Given the description of an element on the screen output the (x, y) to click on. 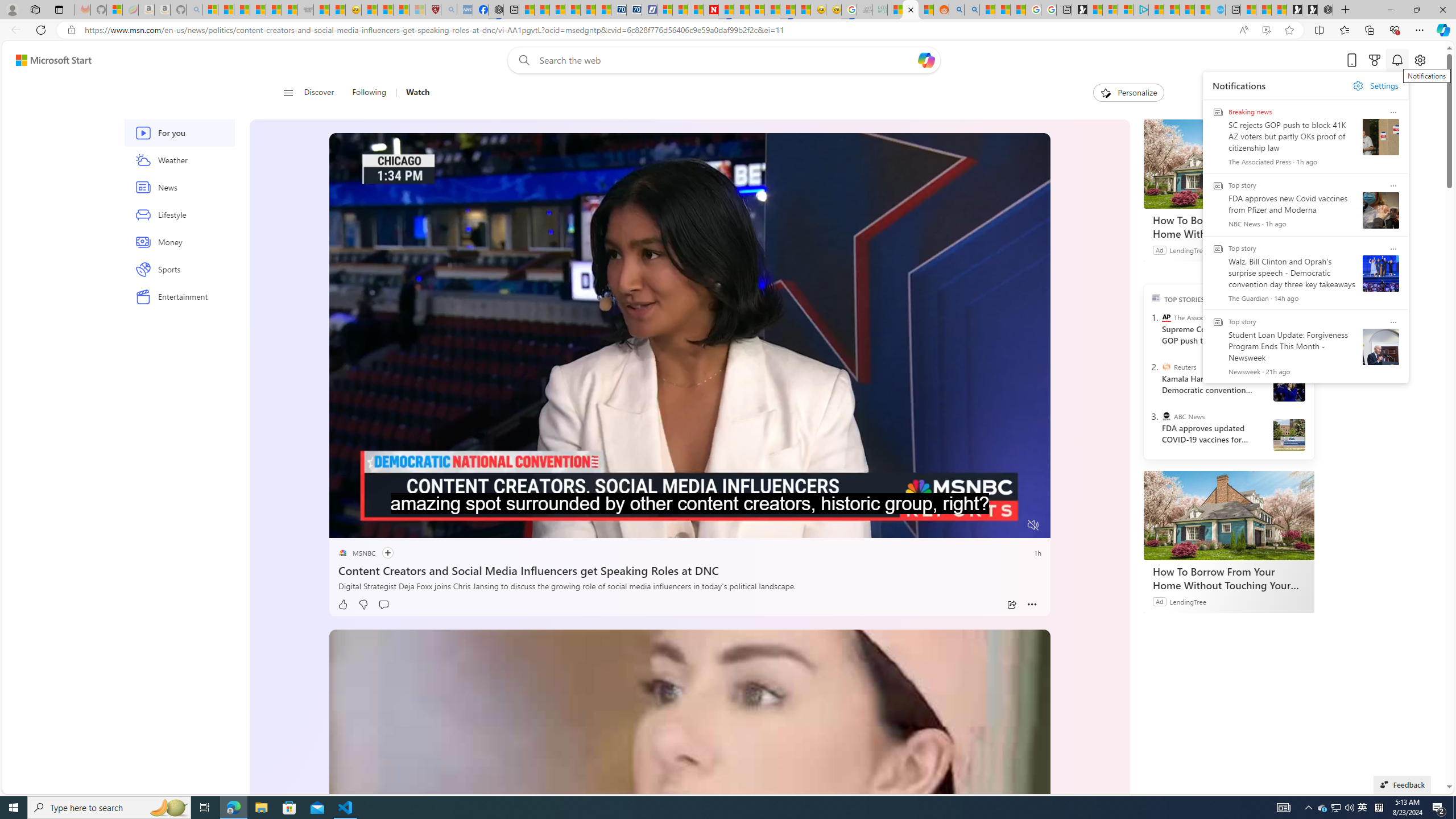
Skip to content (49, 59)
Like (342, 604)
Watch (412, 92)
Reuters (1165, 366)
Class: at-item inline-watch (1031, 604)
Pause (346, 525)
Captions (988, 525)
MSN (787, 9)
